Given the description of an element on the screen output the (x, y) to click on. 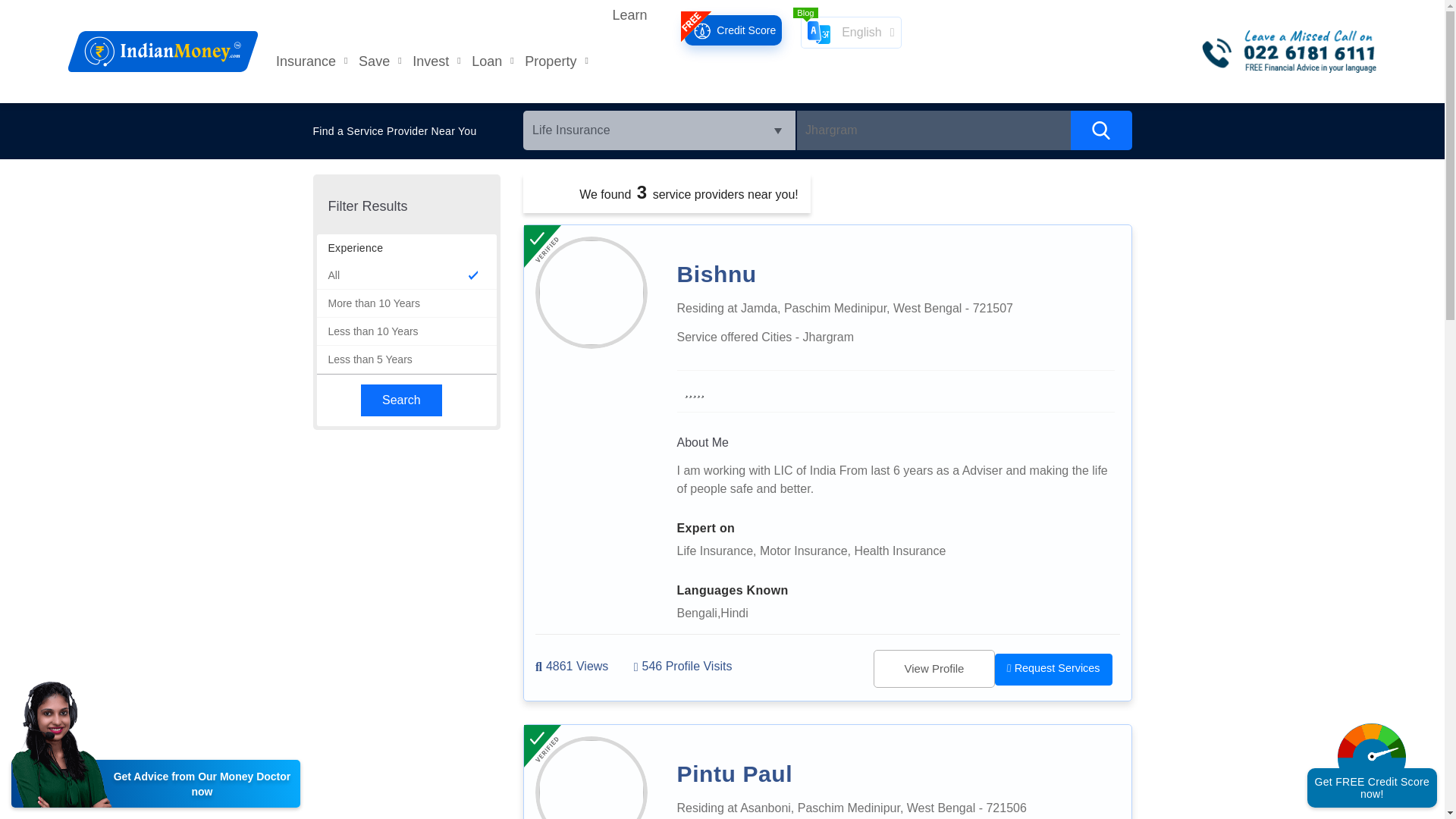
Jhargram (933, 129)
Change language (850, 32)
Rate this Service Provider by visiting this profile (695, 391)
